Given the description of an element on the screen output the (x, y) to click on. 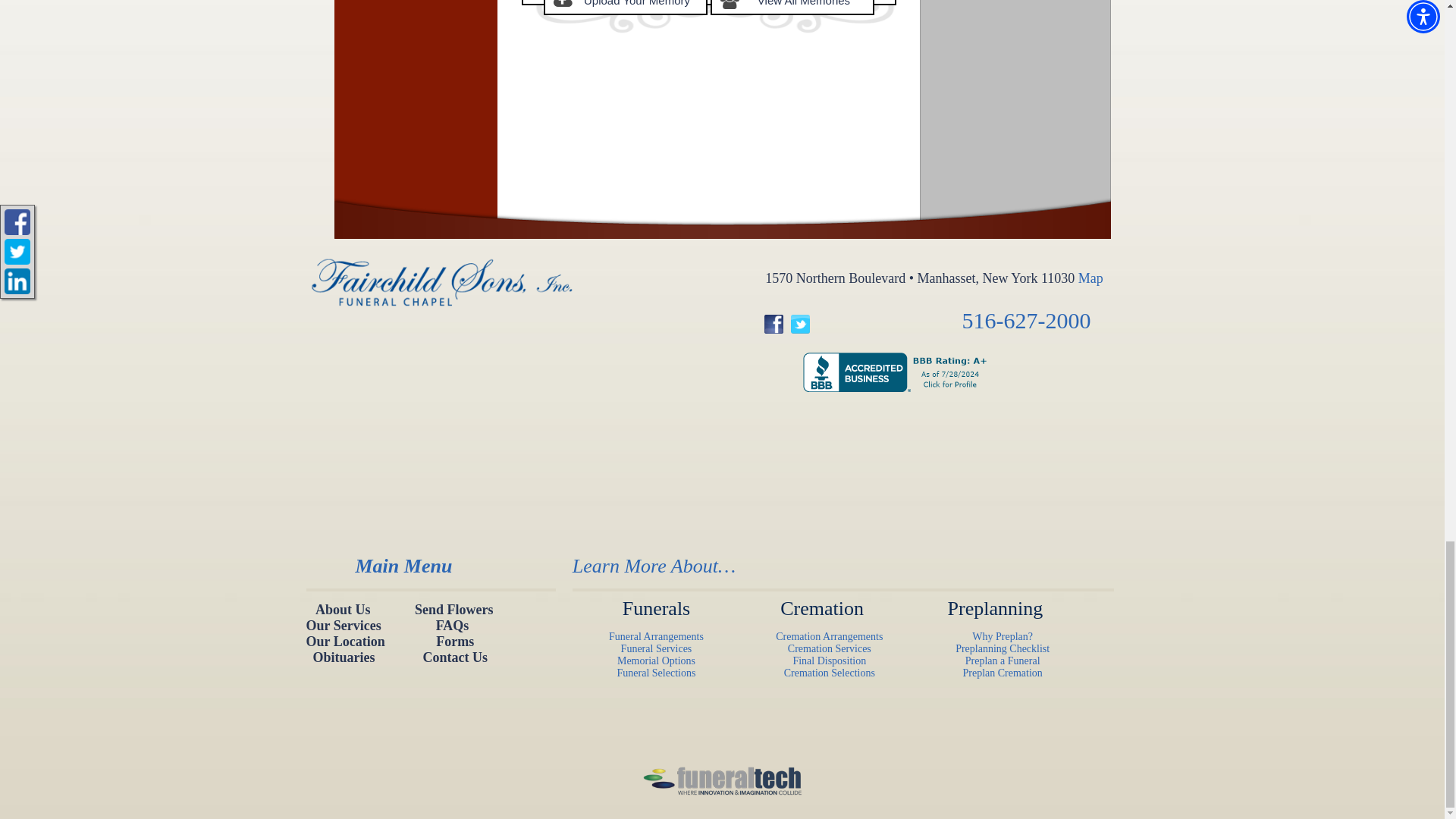
seal-newyork-bbb (916, 409)
